Given the description of an element on the screen output the (x, y) to click on. 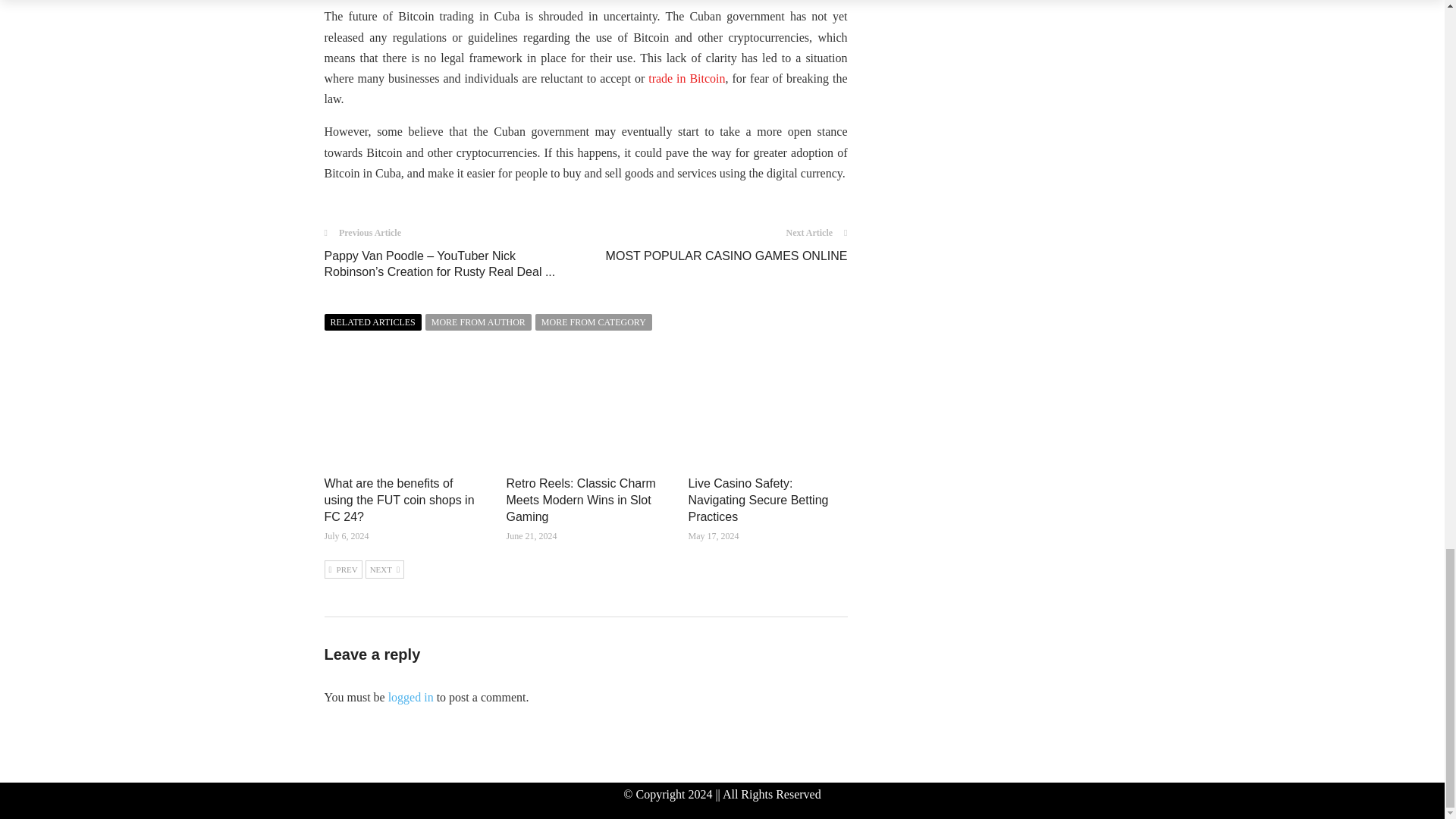
Next (384, 569)
Previous (343, 569)
